Given the description of an element on the screen output the (x, y) to click on. 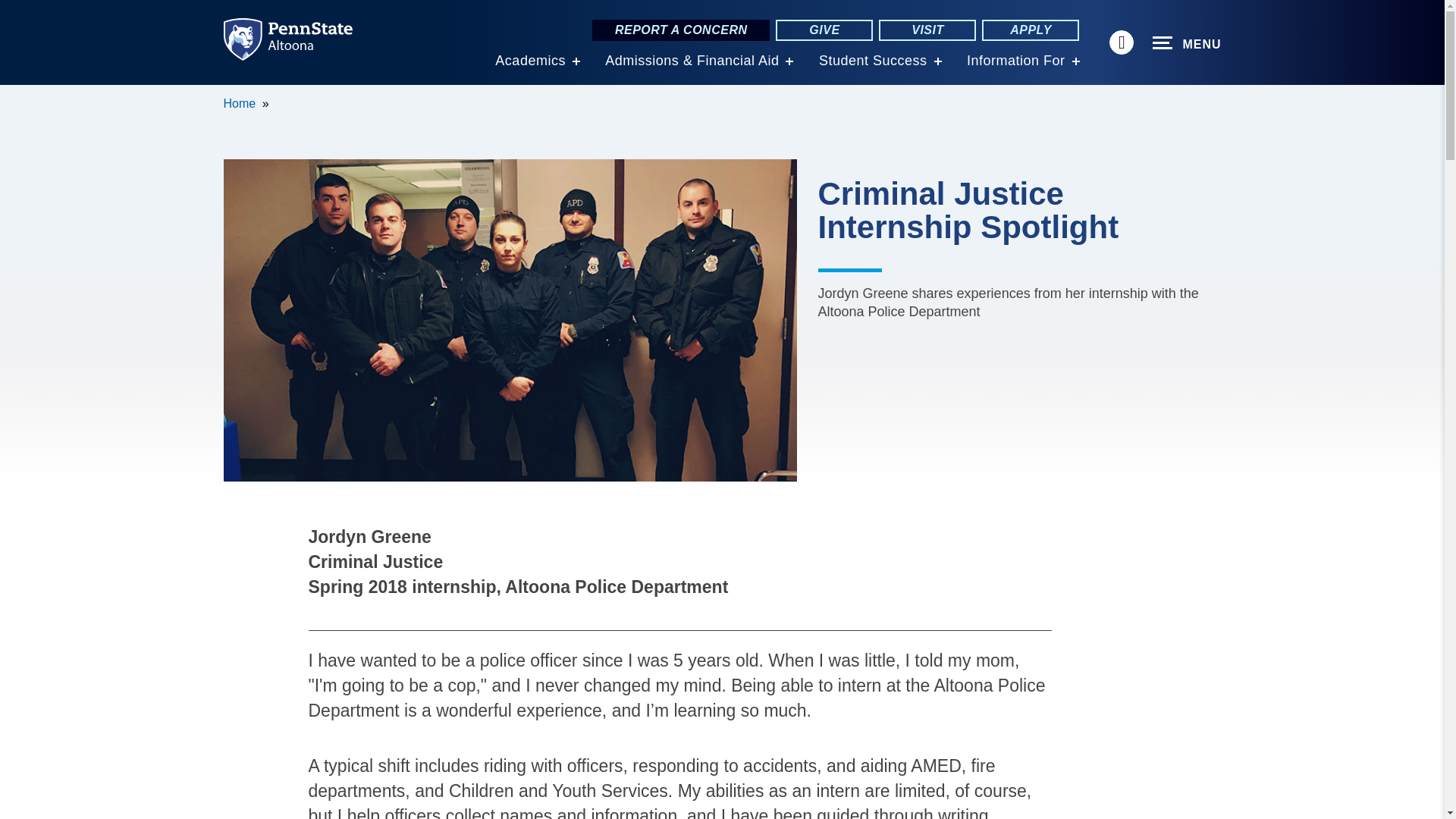
Academics (530, 60)
MENU (1187, 43)
GIVE (824, 29)
Student Success (872, 60)
SKIP TO MAIN CONTENT (19, 95)
APPLY (1029, 29)
VISIT (927, 29)
REPORT A CONCERN (681, 29)
